Given the description of an element on the screen output the (x, y) to click on. 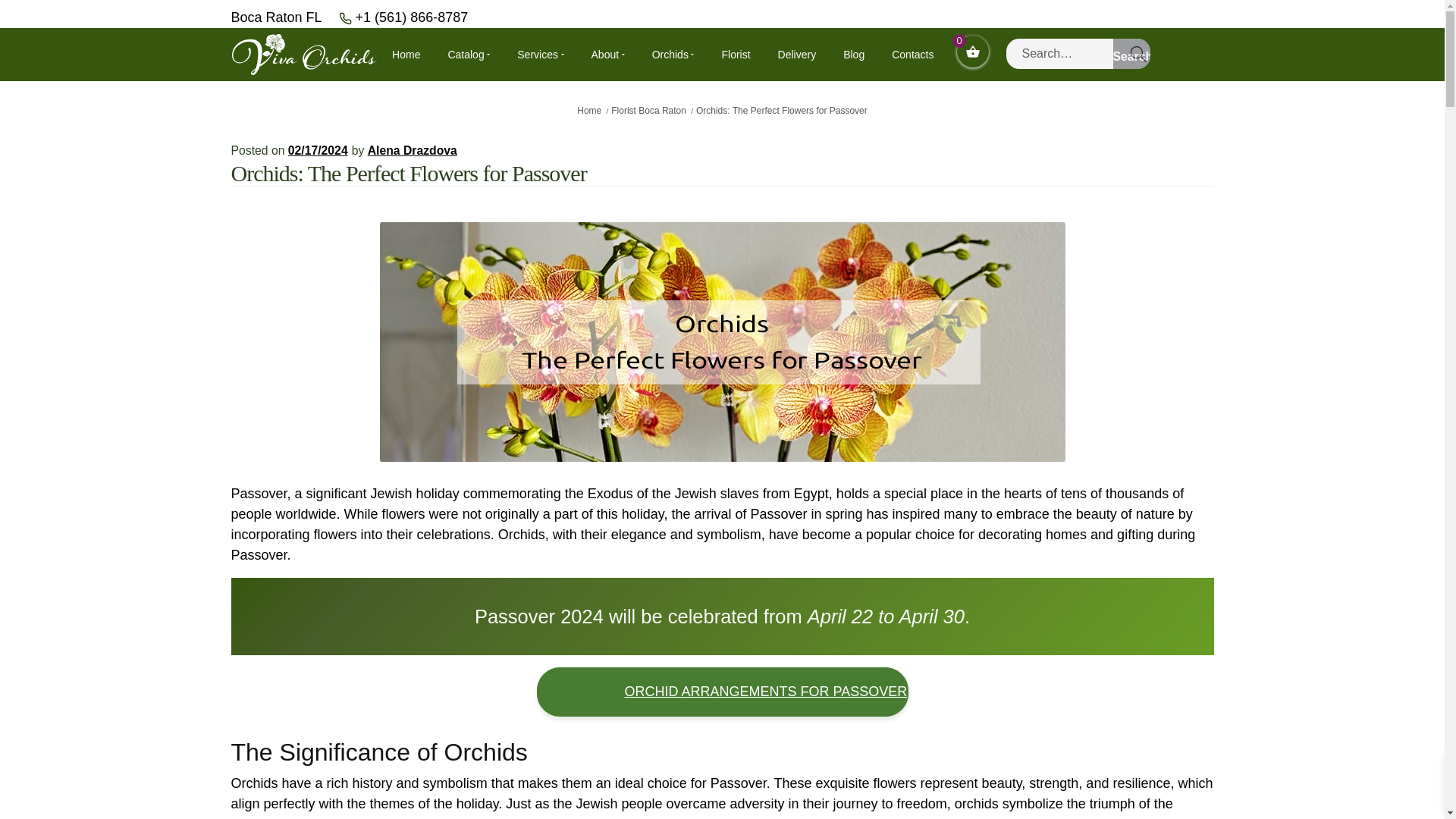
Orchids (673, 54)
Florist (734, 54)
Services (539, 54)
About (607, 54)
Contacts (912, 54)
Orchid Arrangements (722, 691)
Viva Orchids of Boca Raton (303, 53)
Blog (853, 54)
Home (405, 54)
Delivery (796, 54)
